Given the description of an element on the screen output the (x, y) to click on. 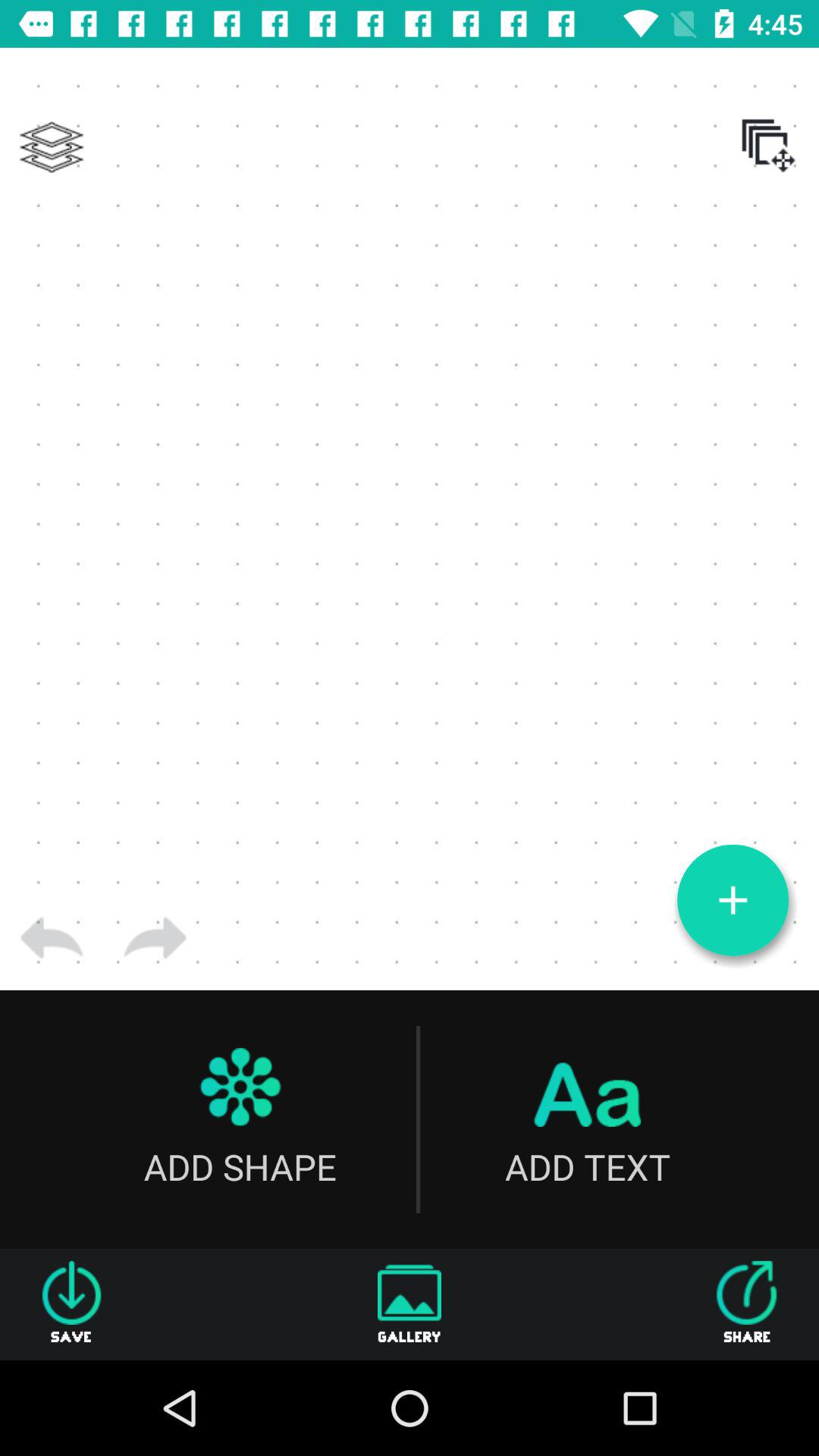
choose the save (71, 1304)
